Given the description of an element on the screen output the (x, y) to click on. 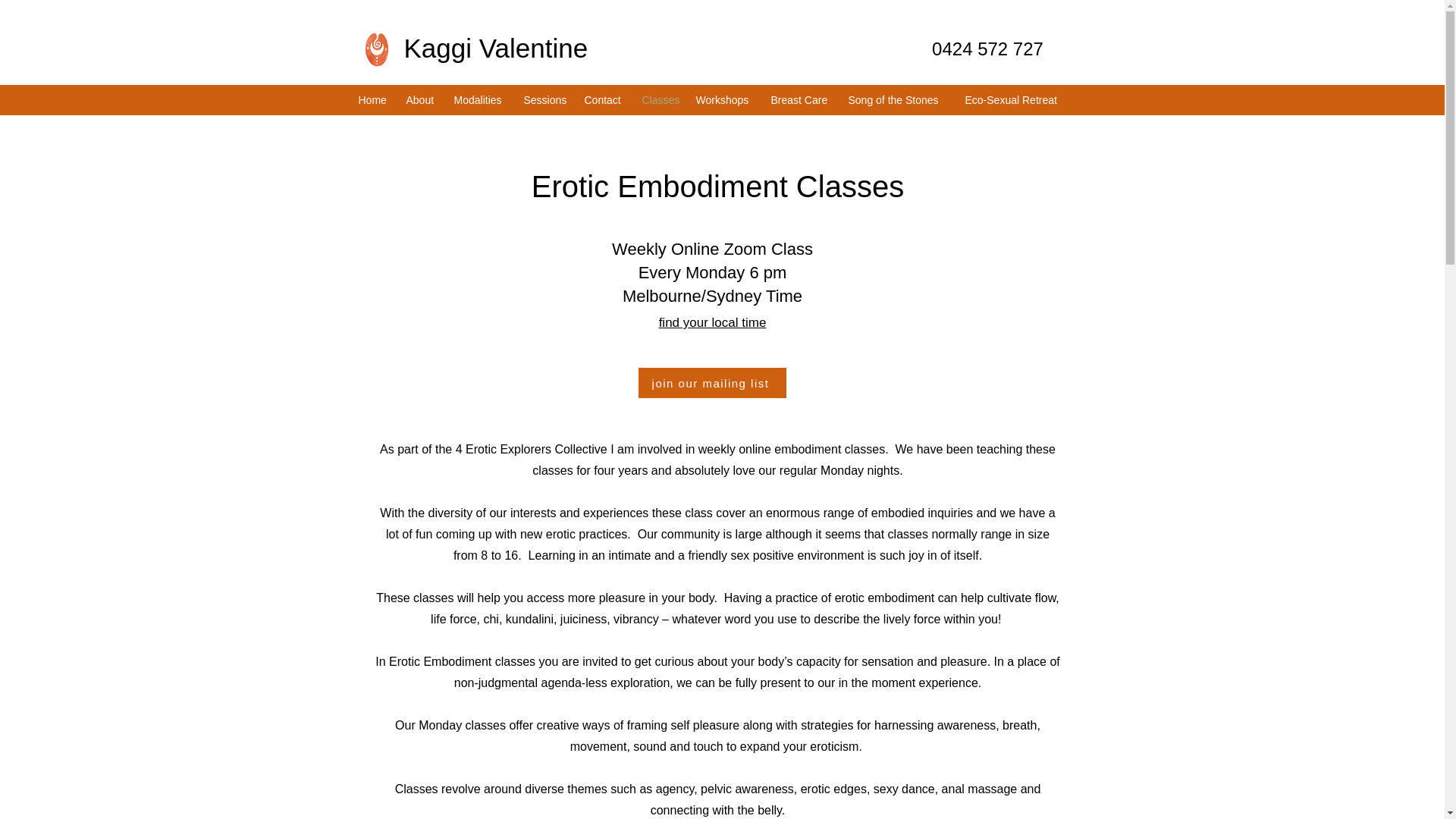
Home (373, 99)
find your local time (730, 334)
Workshops (725, 99)
Contact (604, 99)
About (422, 99)
Song of the Stones (898, 99)
Eco-Sexual Retreat (1013, 99)
join our mailing list (712, 382)
Breast Care (801, 99)
Classes (660, 99)
Sessions (545, 99)
Modalities (480, 99)
